Given the description of an element on the screen output the (x, y) to click on. 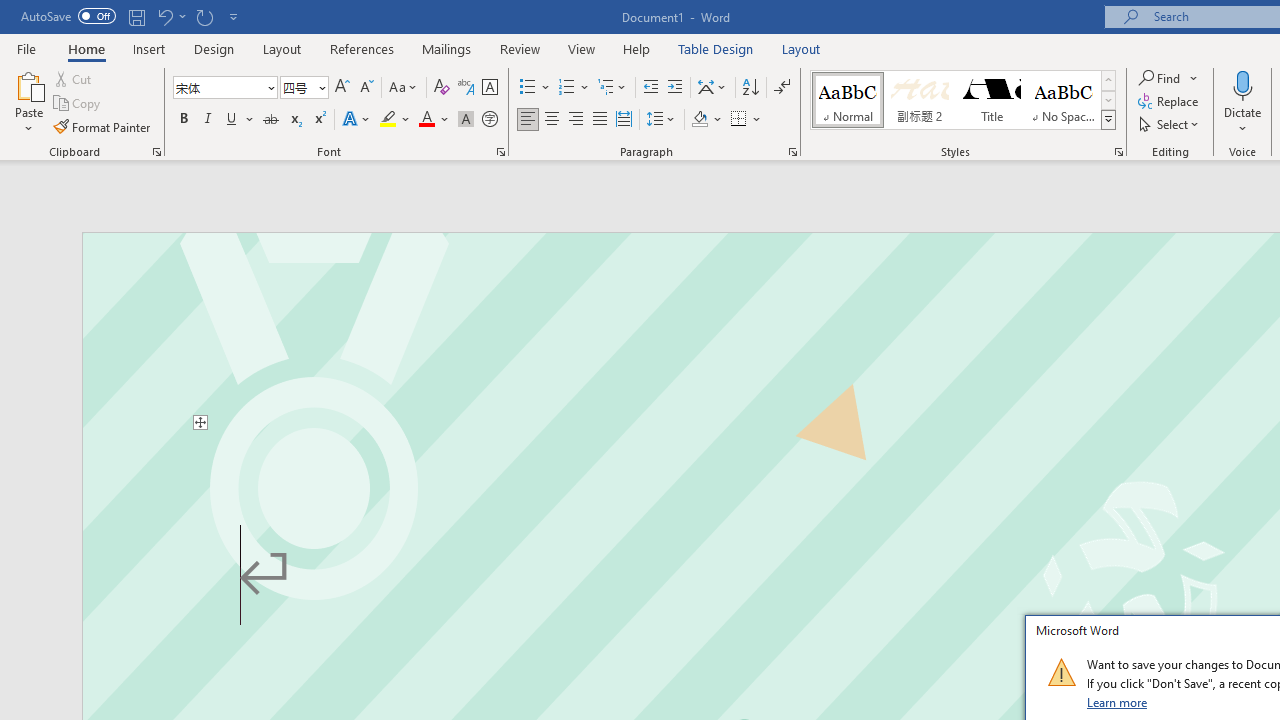
Undo Text Fill Effect (170, 15)
